Given the description of an element on the screen output the (x, y) to click on. 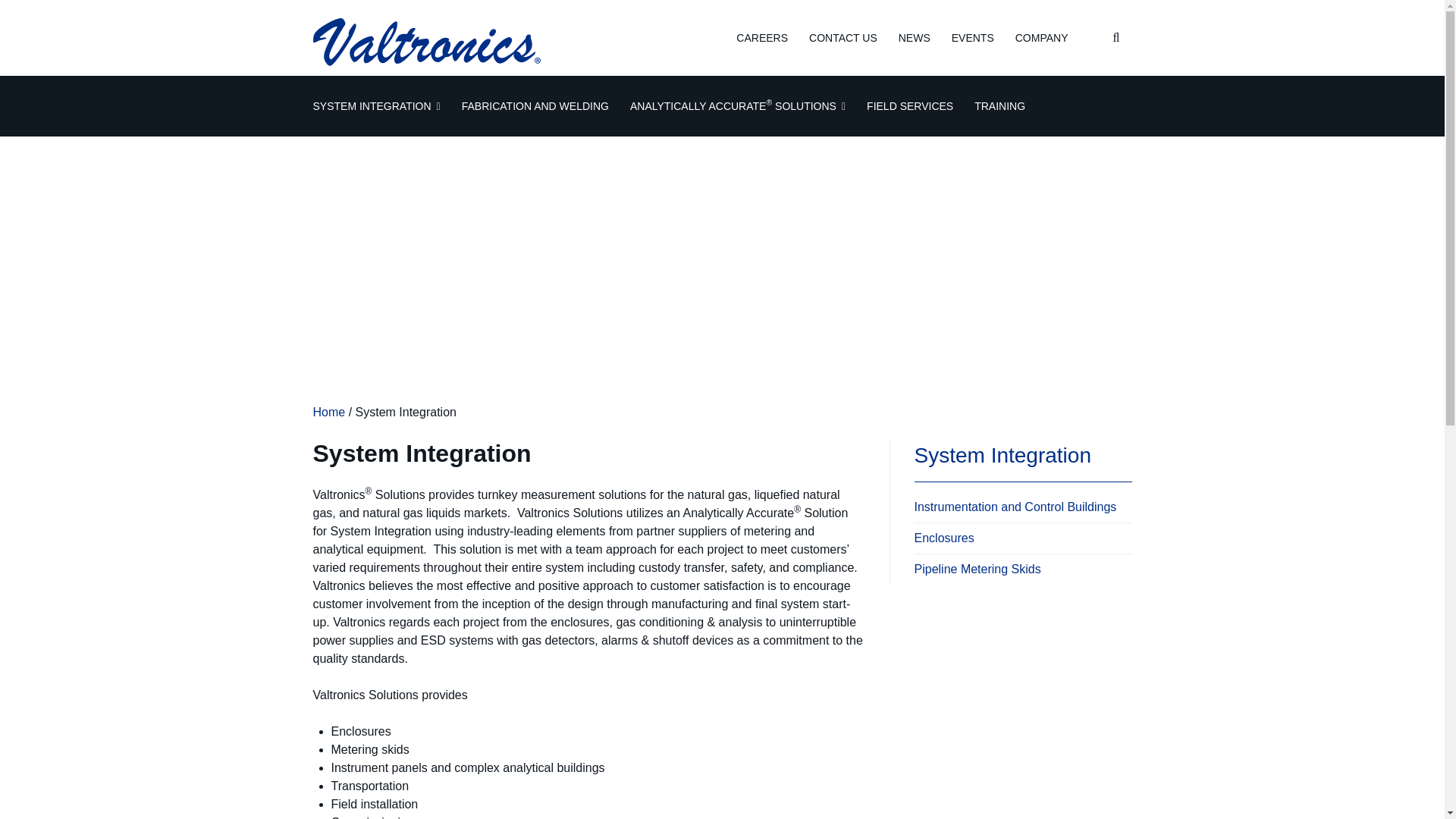
FABRICATION AND WELDING (534, 106)
Pipeline Metering Skids (1023, 572)
EVENTS (973, 37)
NEWS (914, 37)
Instrumentation and Control Buildings (1023, 510)
TRAINING (999, 106)
Enclosures (1023, 541)
CONTACT US (843, 37)
CAREERS (761, 37)
SYSTEM INTEGRATION (376, 106)
Valtronics (399, 76)
COMPANY (1041, 37)
FIELD SERVICES (909, 106)
Home (329, 411)
